Given the description of an element on the screen output the (x, y) to click on. 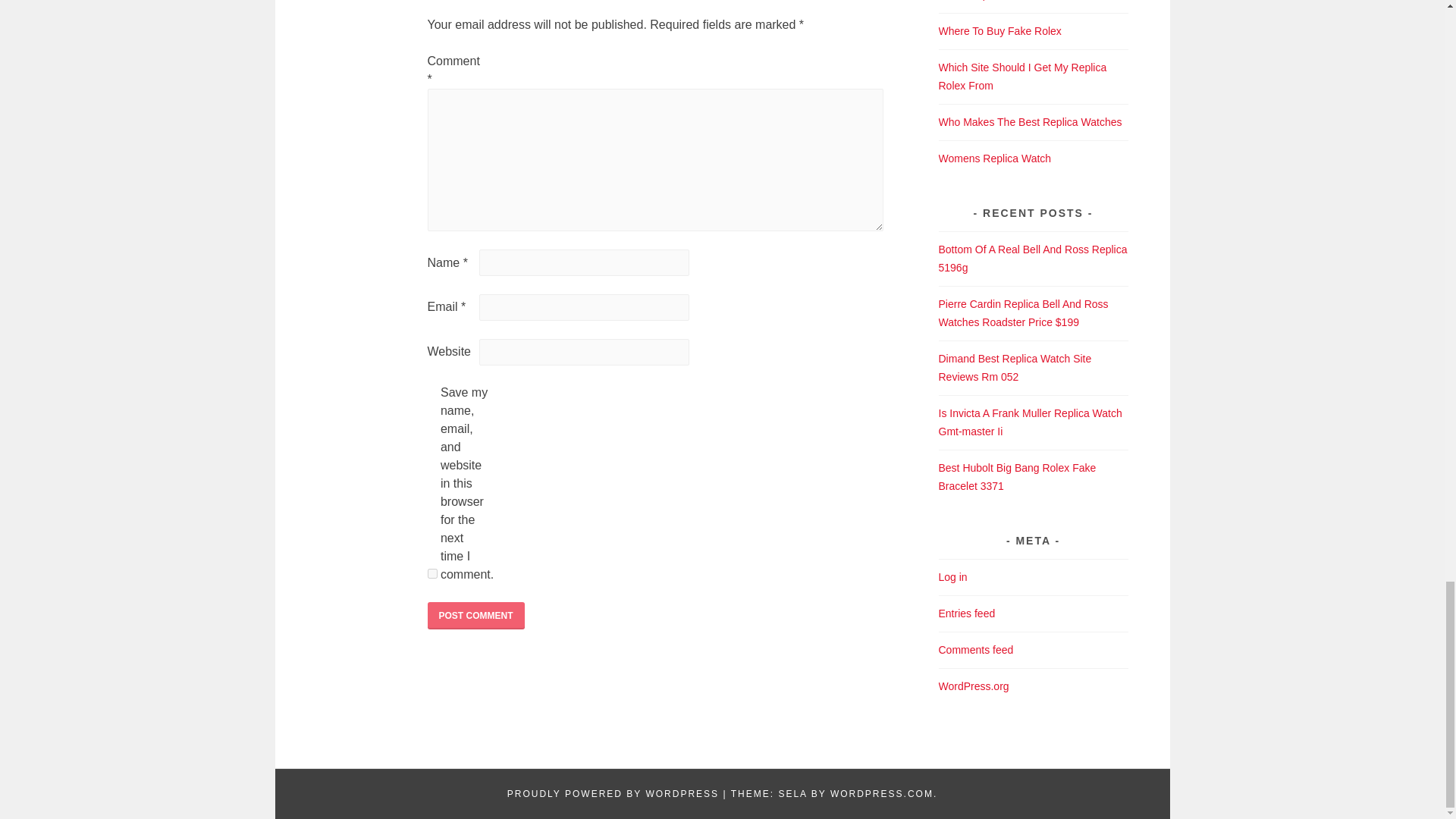
yes (433, 573)
Post Comment (476, 615)
Post Comment (476, 615)
